Given the description of an element on the screen output the (x, y) to click on. 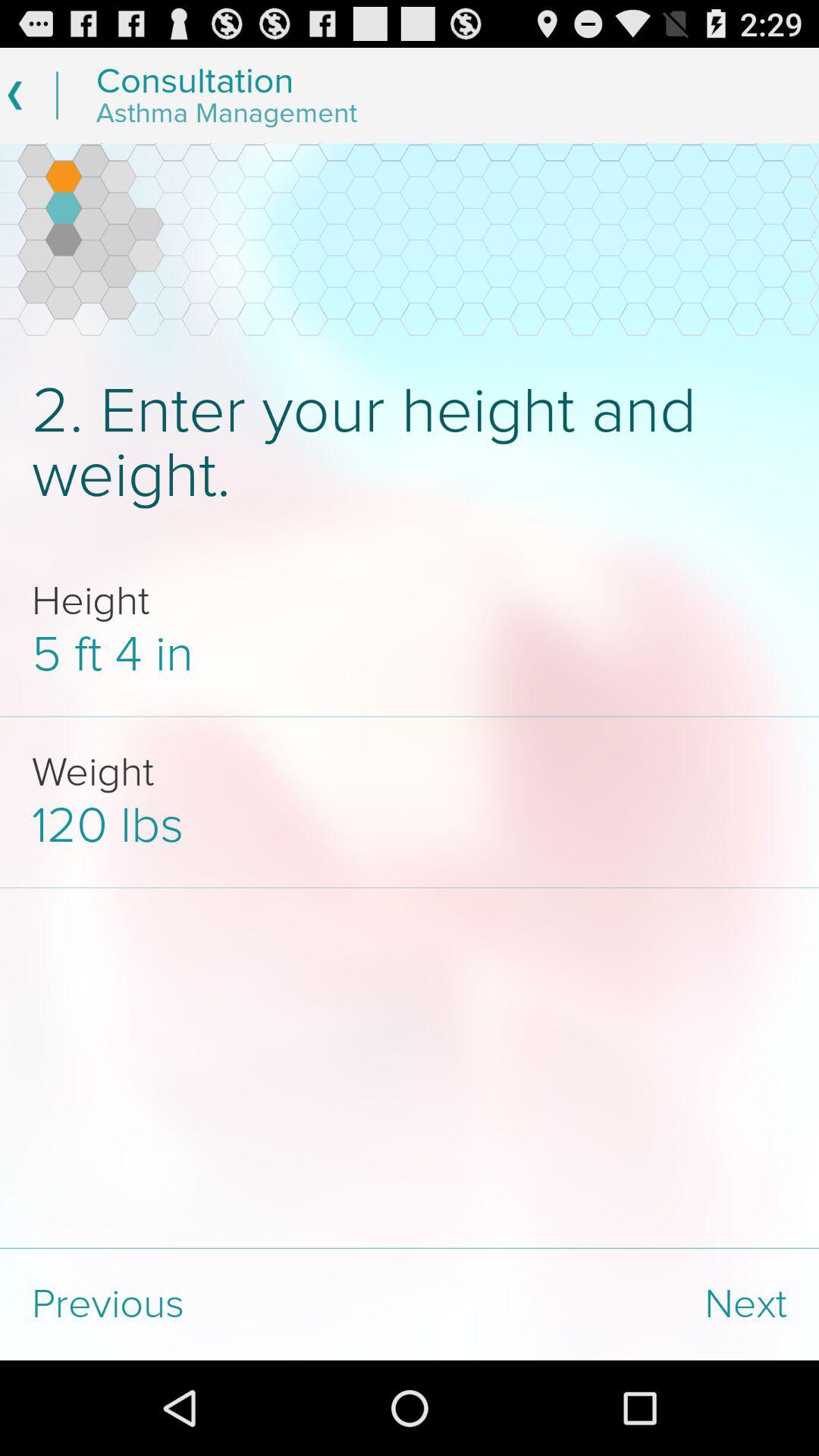
press icon next to the next item (204, 1304)
